Given the description of an element on the screen output the (x, y) to click on. 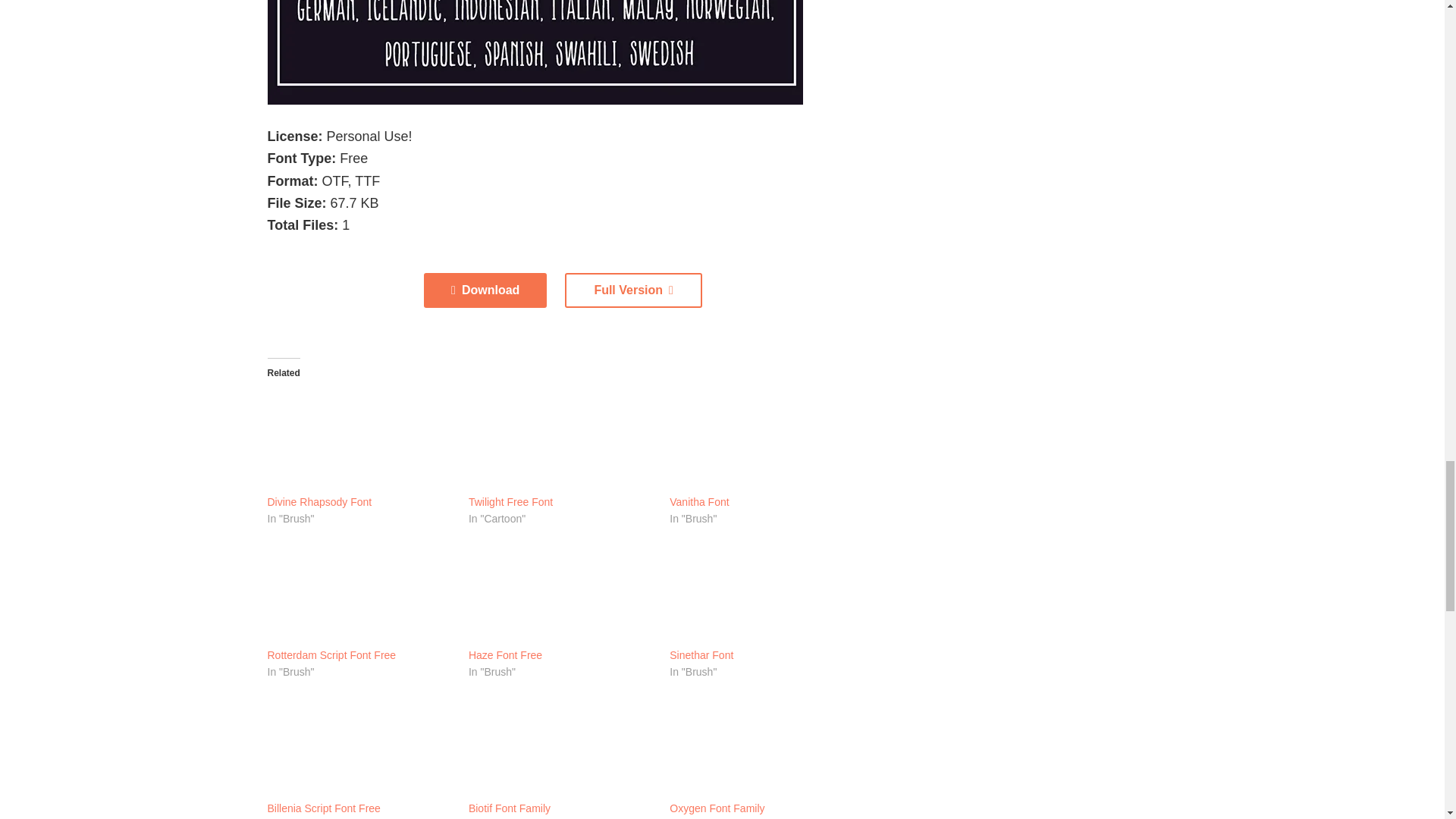
Rotterdam Script Font Free (359, 593)
Sinethar Font (701, 655)
Oxygen Font Family (716, 808)
Haze Font Free (504, 655)
Haze Font Free (560, 593)
Biotif Font Family (560, 746)
Full Version (632, 289)
Download (485, 289)
Rotterdam Script Font Free (331, 655)
Billenia Script Font Free (323, 808)
Vanitha Font (699, 502)
Billenia Script Font Free (359, 746)
Vanitha Font (762, 440)
Biotif Font Family (509, 808)
Divine Rhapsody Font (359, 440)
